Given the description of an element on the screen output the (x, y) to click on. 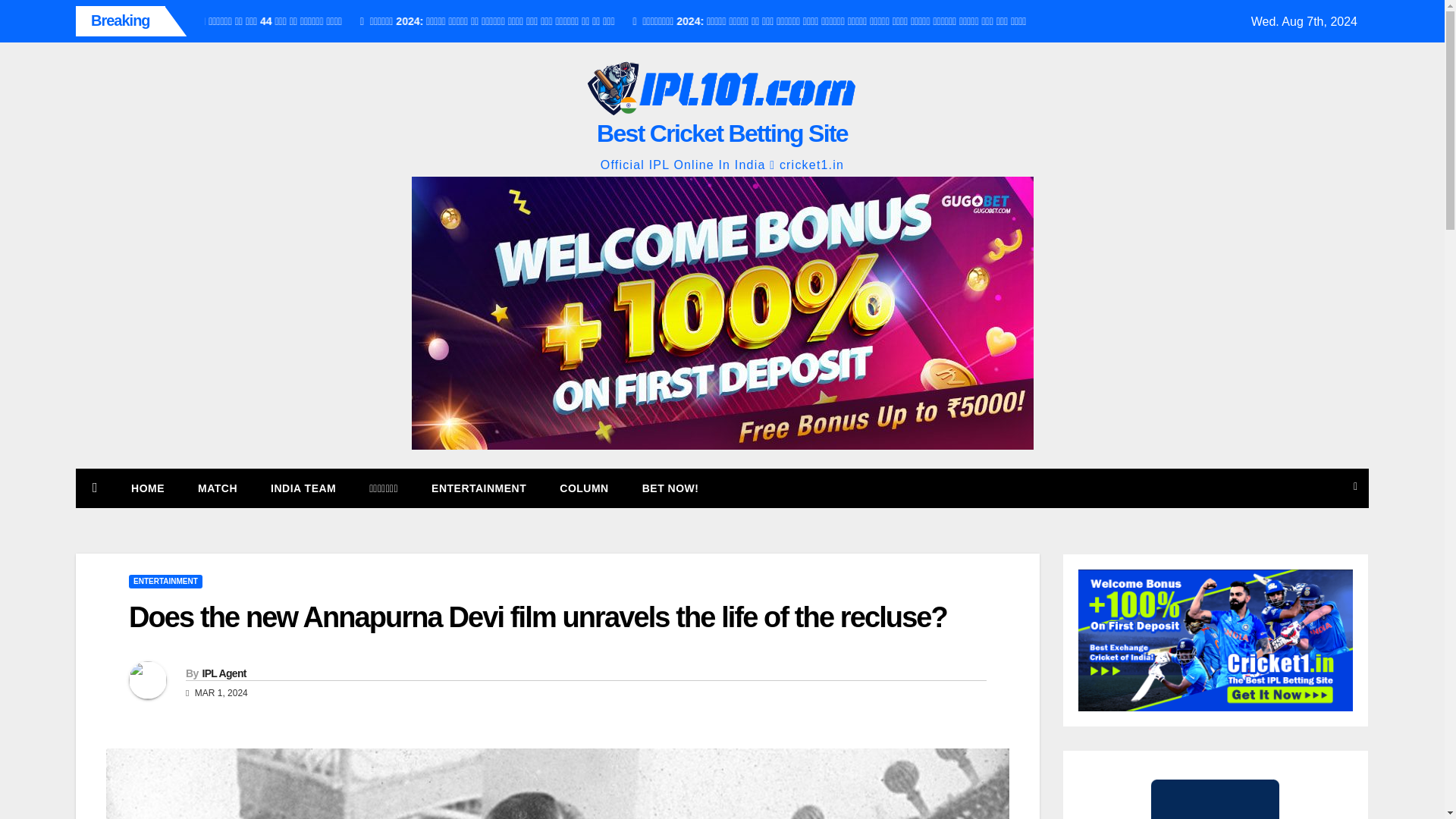
ENTERTAINMENT (165, 581)
Best Cricket Betting Site (721, 133)
Bet Now! (671, 487)
India Team (302, 487)
Entertainment (478, 487)
Match (216, 487)
IPL Agent (224, 673)
INDIA TEAM (302, 487)
BET NOW! (671, 487)
ENTERTAINMENT (478, 487)
COLUMN (583, 487)
MATCH (216, 487)
Column (583, 487)
Home (147, 487)
